Given the description of an element on the screen output the (x, y) to click on. 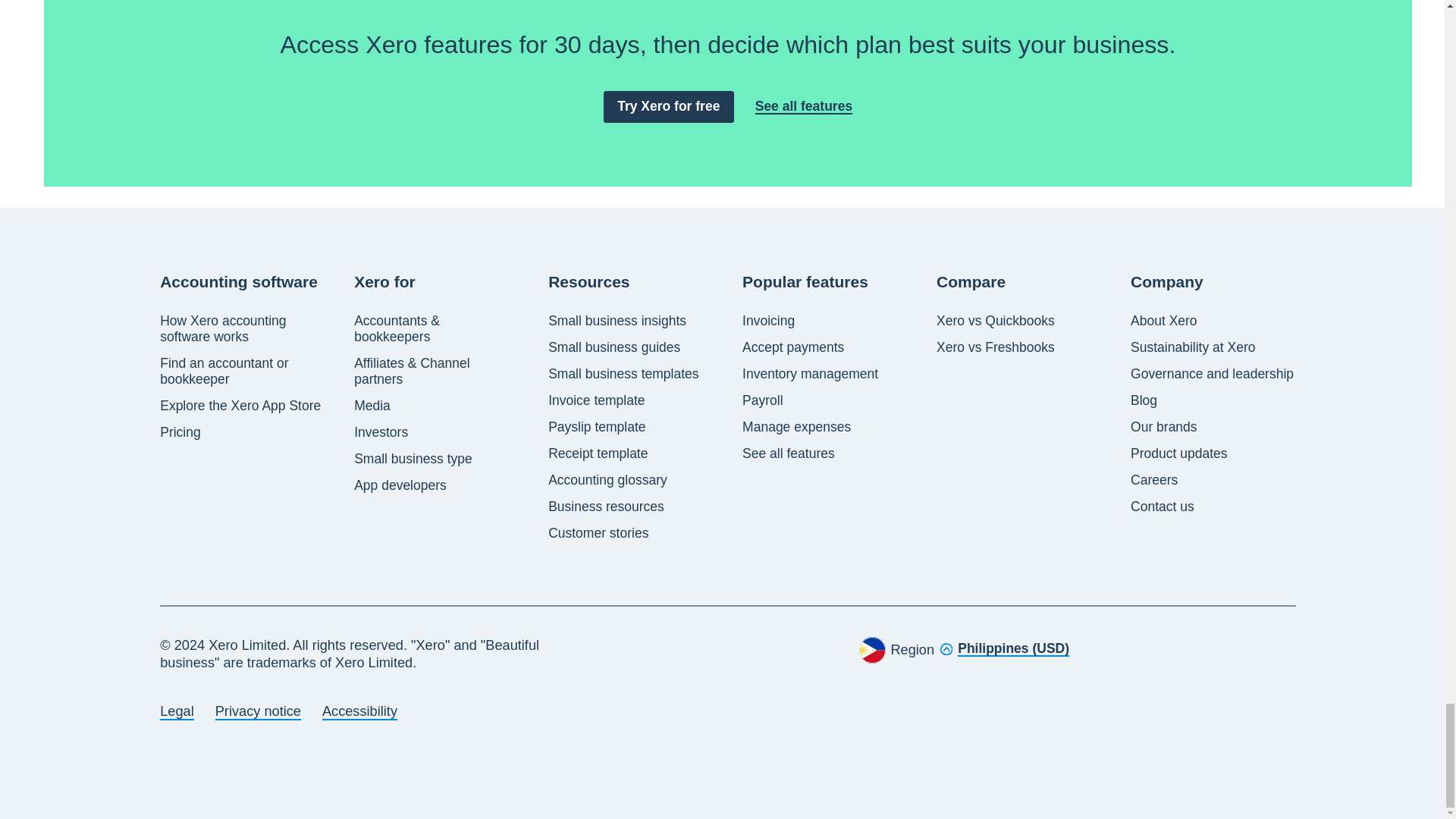
Explore the Xero App Store (240, 406)
See all features (803, 106)
Try Xero for free (668, 106)
How Xero accounting software works (242, 328)
Find an accountant or bookkeeper (242, 371)
Pricing (180, 432)
